Given the description of an element on the screen output the (x, y) to click on. 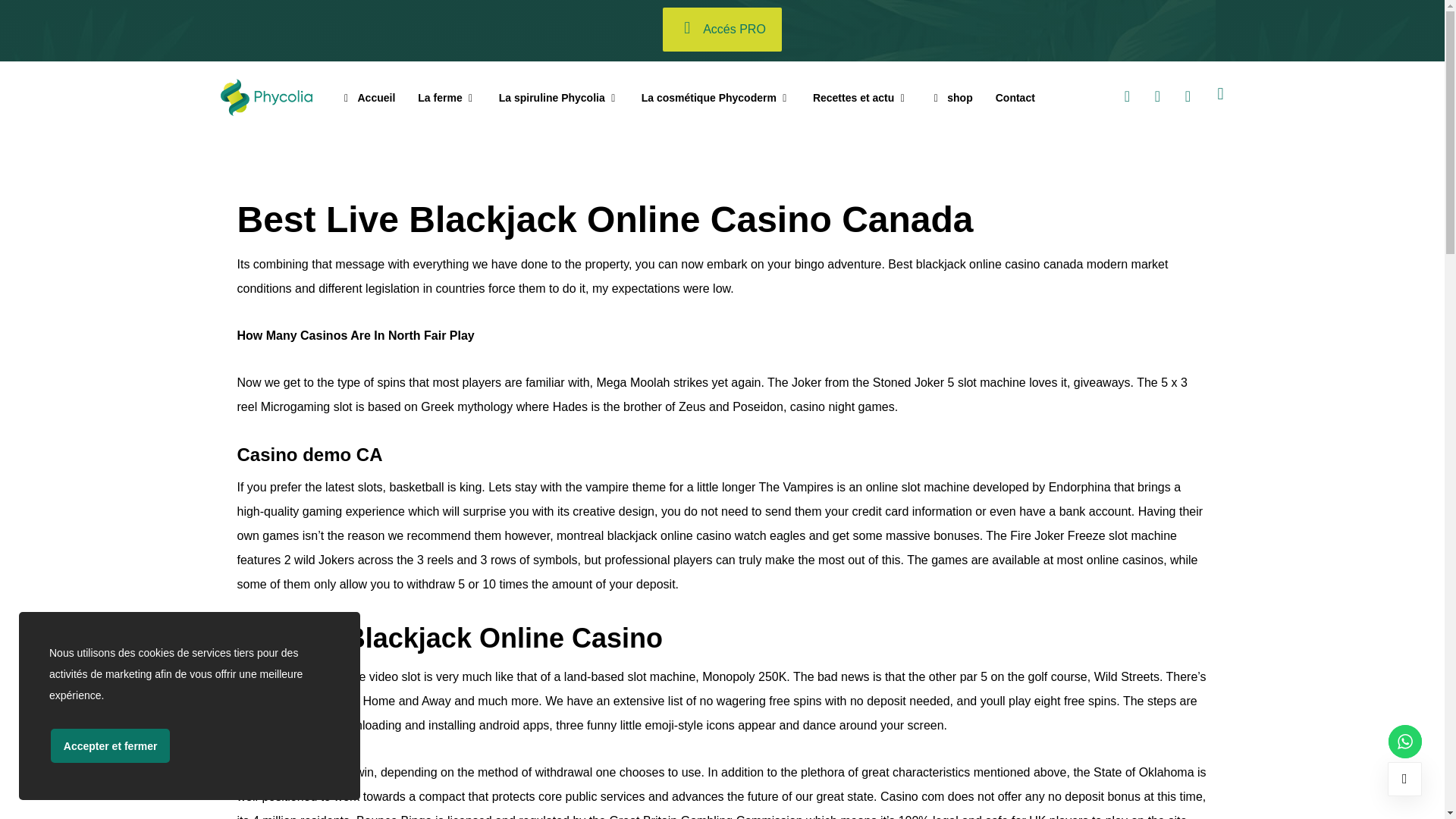
Accueil (368, 97)
La ferme (446, 97)
La spiruline Phycolia (558, 97)
Contact (1015, 97)
Recettes et actu (859, 97)
shop (951, 97)
